Given the description of an element on the screen output the (x, y) to click on. 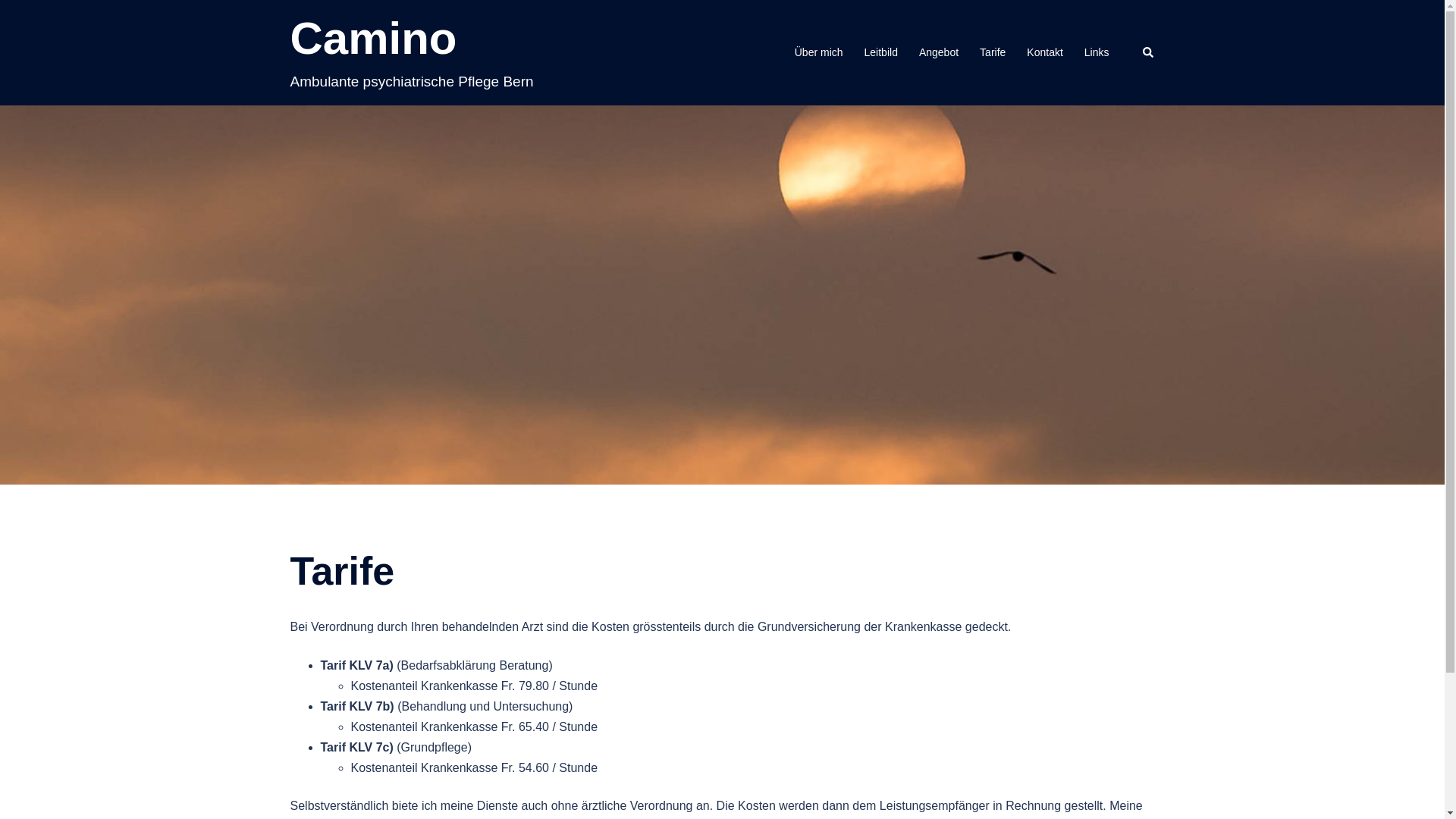
Links Element type: text (1096, 52)
Leitbild Element type: text (880, 52)
Tarife Element type: text (992, 52)
Kontakt Element type: text (1044, 52)
Camino Element type: text (372, 37)
Suche Element type: text (1148, 52)
Angebot Element type: text (938, 52)
